Given the description of an element on the screen output the (x, y) to click on. 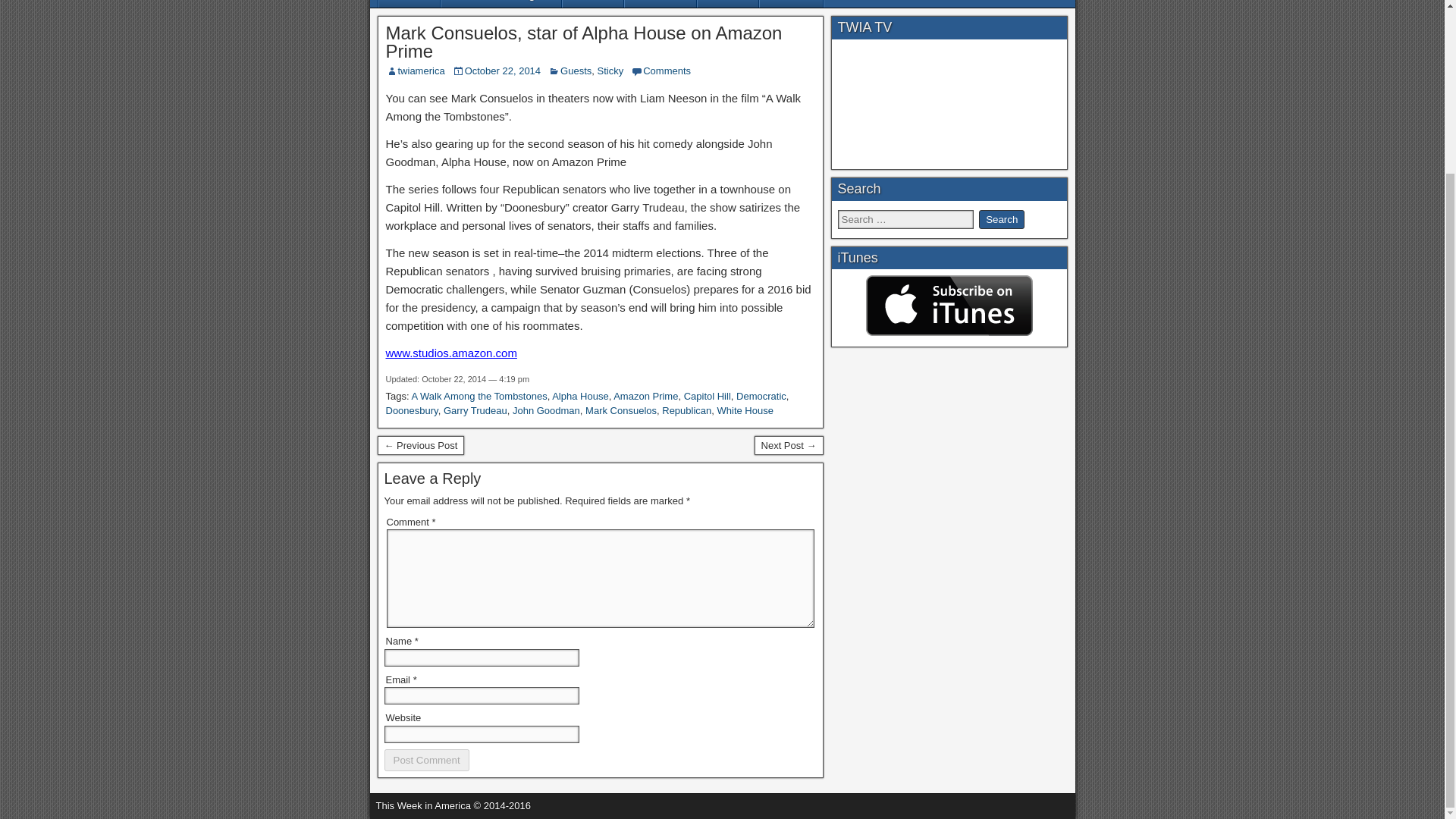
Contact (791, 3)
www.studios.amazon.com (450, 352)
Search (1001, 219)
October 22, 2014 (502, 70)
Comments (666, 70)
Sticky (610, 70)
Podcasts (659, 3)
Amazon Prime (645, 396)
Post Comment (426, 760)
Doonesbury (411, 410)
